Given the description of an element on the screen output the (x, y) to click on. 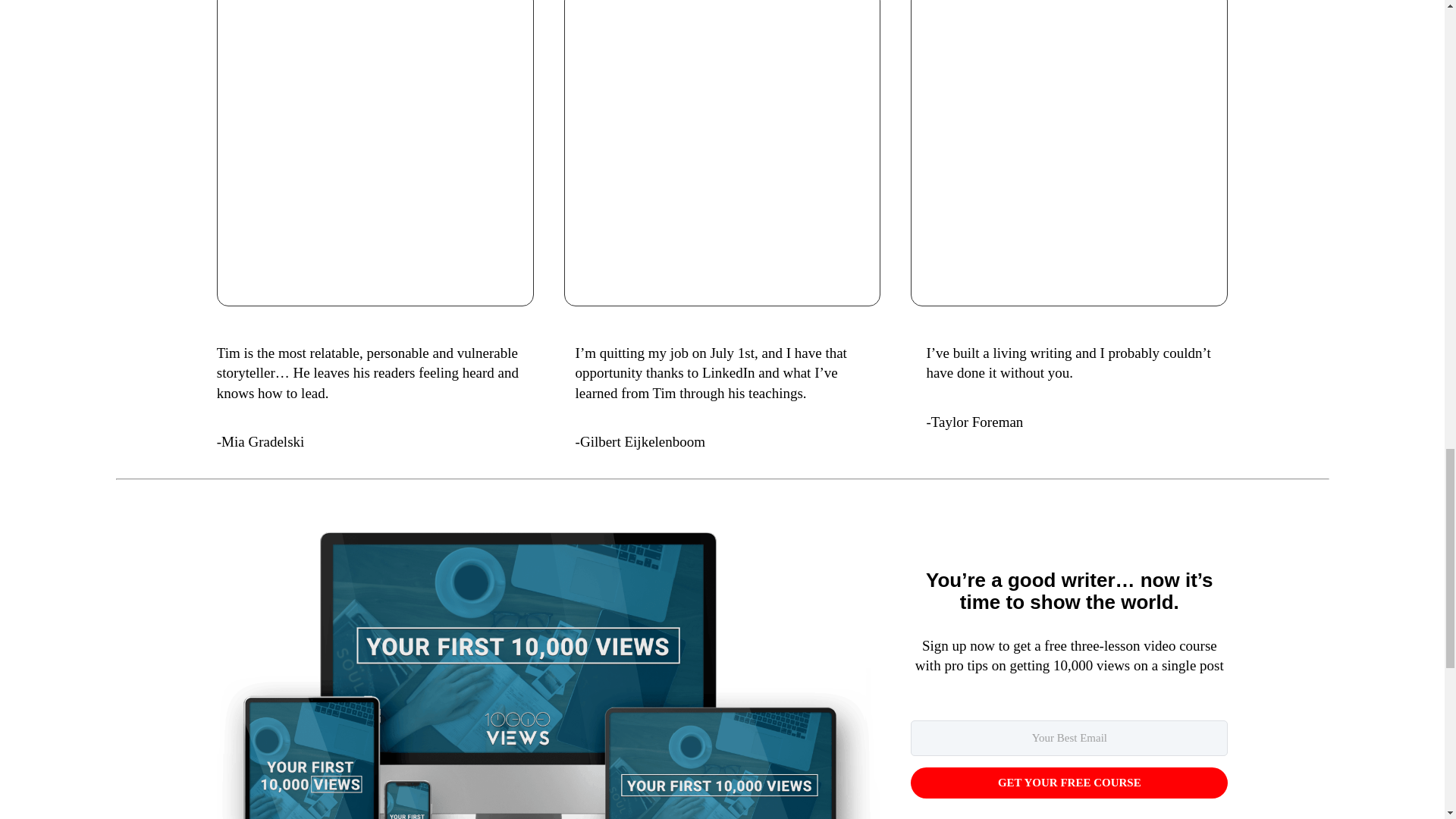
GET YOUR FREE COURSE (1069, 782)
